Given the description of an element on the screen output the (x, y) to click on. 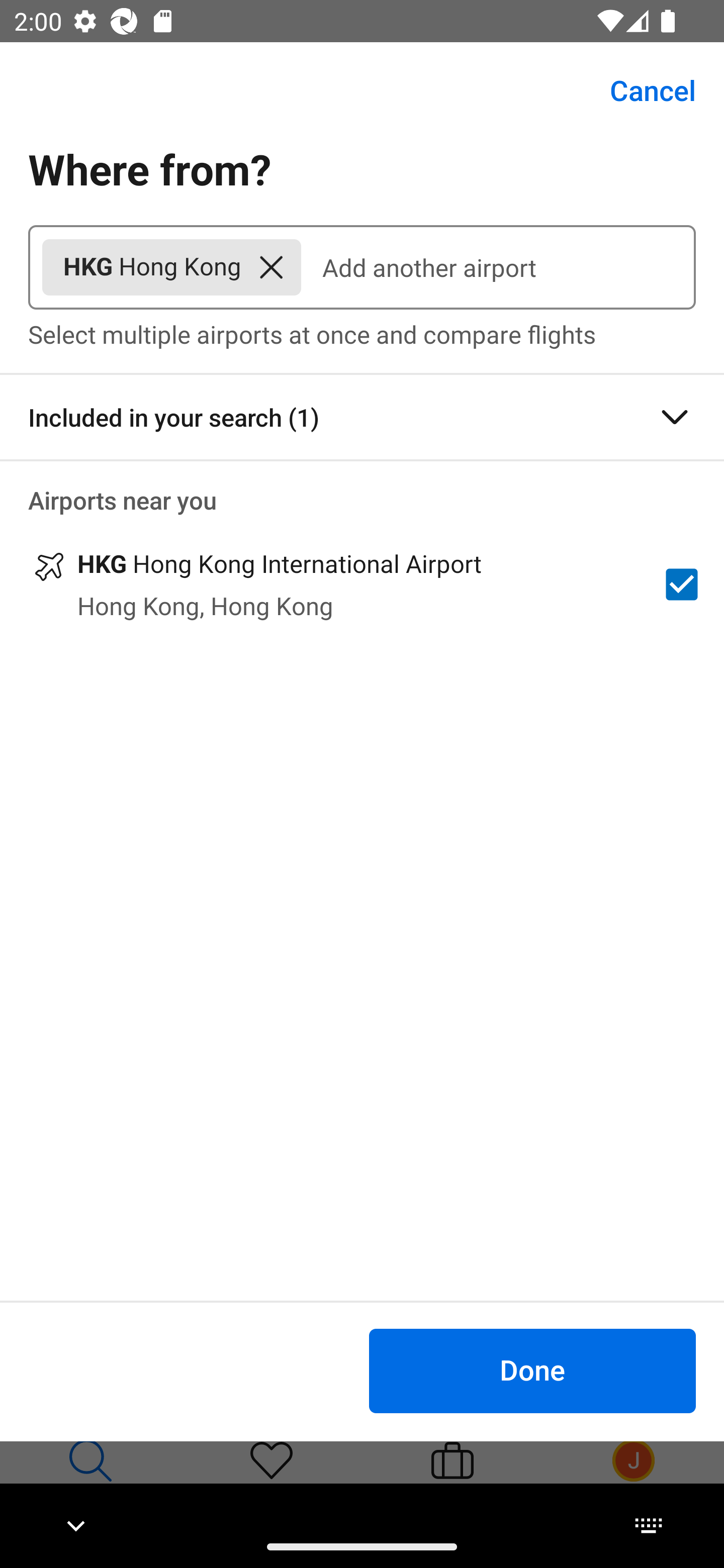
Cancel (641, 90)
Add another airport (498, 266)
HKG Hong Kong Remove HKG Hong Kong (171, 266)
Included in your search (1) (362, 416)
Done (532, 1370)
